Given the description of an element on the screen output the (x, y) to click on. 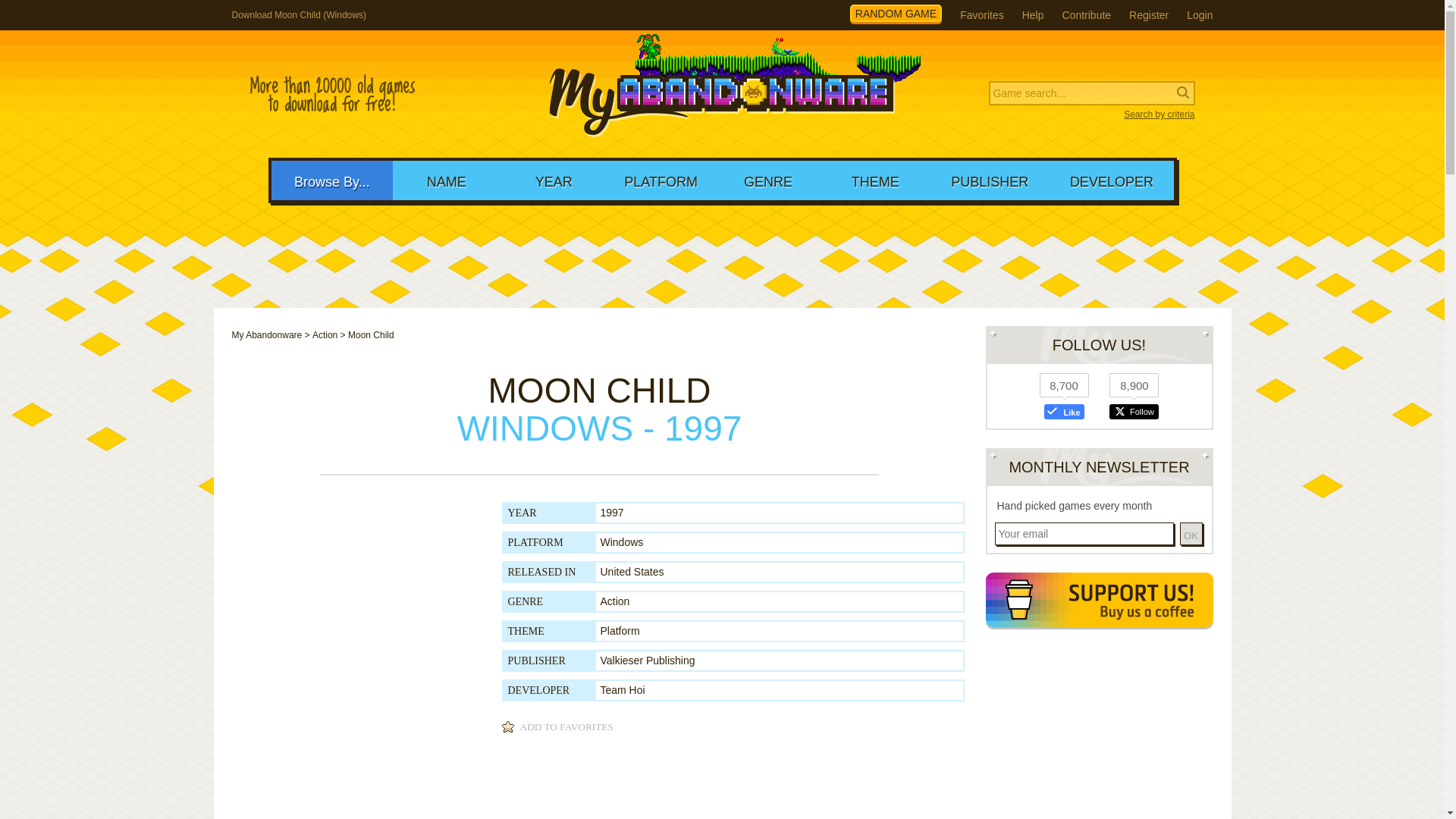
My Abandonware (266, 335)
Browse games of this theme (619, 630)
Action (325, 335)
PLATFORM (660, 179)
Help (1032, 14)
RANDOM GAME (896, 13)
ADD TO FAVORITES (559, 726)
Favorites (981, 14)
Action (614, 601)
MyAbandonware (722, 94)
Platform (619, 630)
DEVELOPER (1112, 179)
THEME (875, 179)
search (98, 12)
PUBLISHER (989, 179)
